Given the description of an element on the screen output the (x, y) to click on. 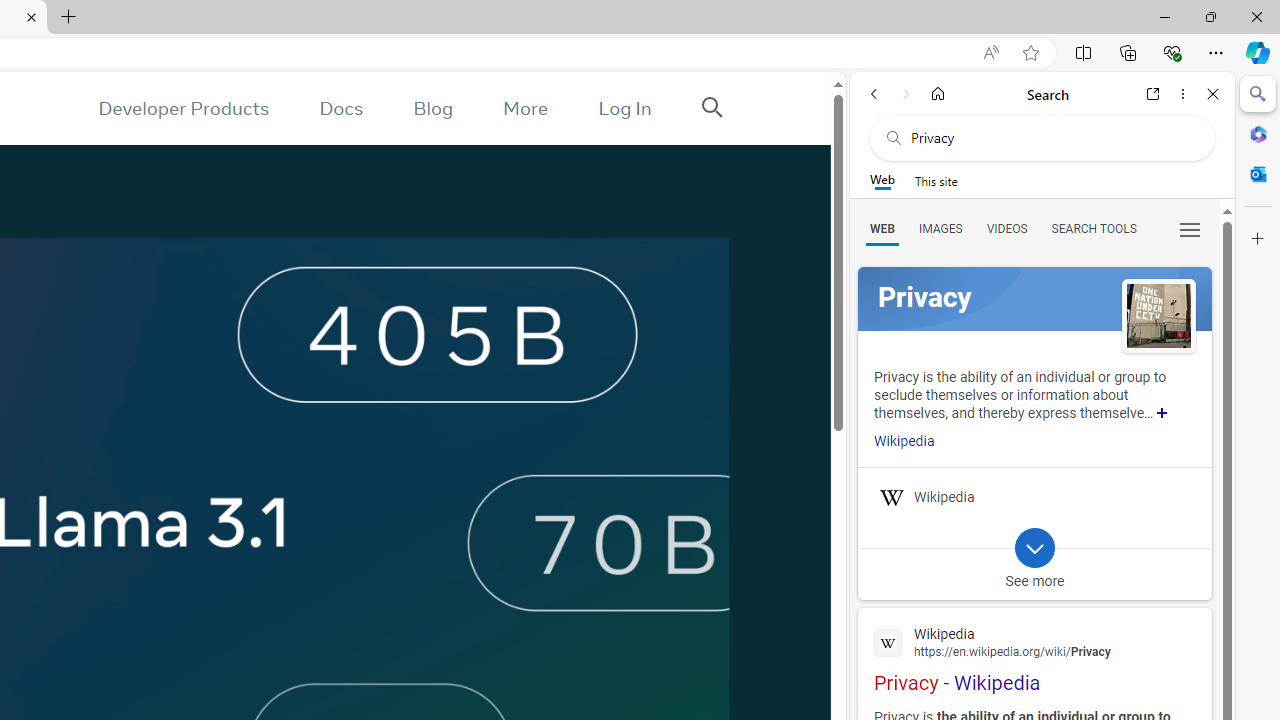
Class: b_serphb (1190, 229)
Docs (341, 108)
Search Filter, IMAGES (939, 228)
Search Filter, WEB (882, 228)
Log In (625, 108)
WEB   (882, 228)
Class: spl_logobg (1034, 299)
Search Filter, VIDEOS (1006, 228)
Search Filter, Search Tools (1093, 228)
Privacy - Wikipedia (1034, 657)
This site scope (936, 180)
